Given the description of an element on the screen output the (x, y) to click on. 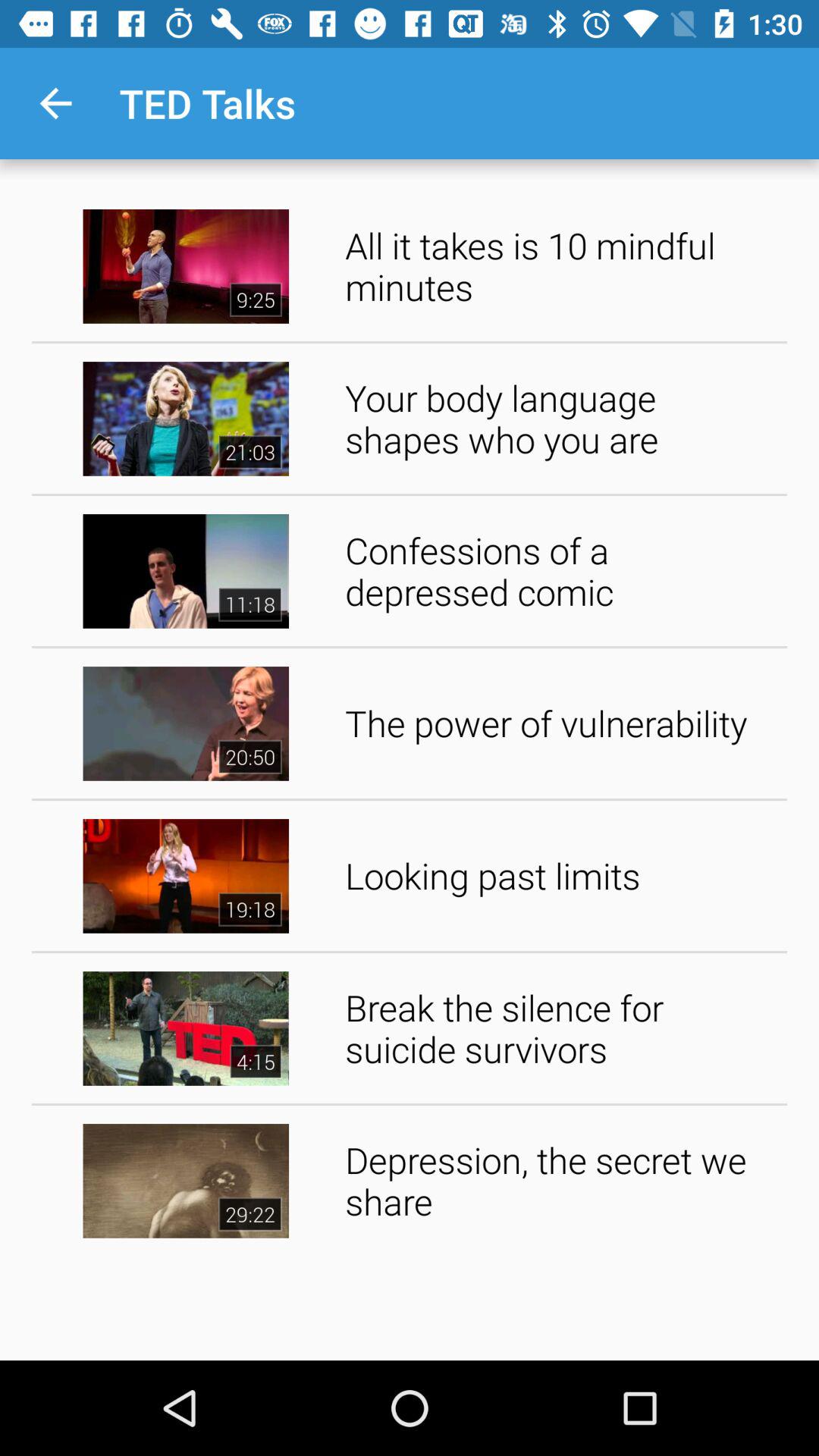
tap the your body language app (560, 418)
